Given the description of an element on the screen output the (x, y) to click on. 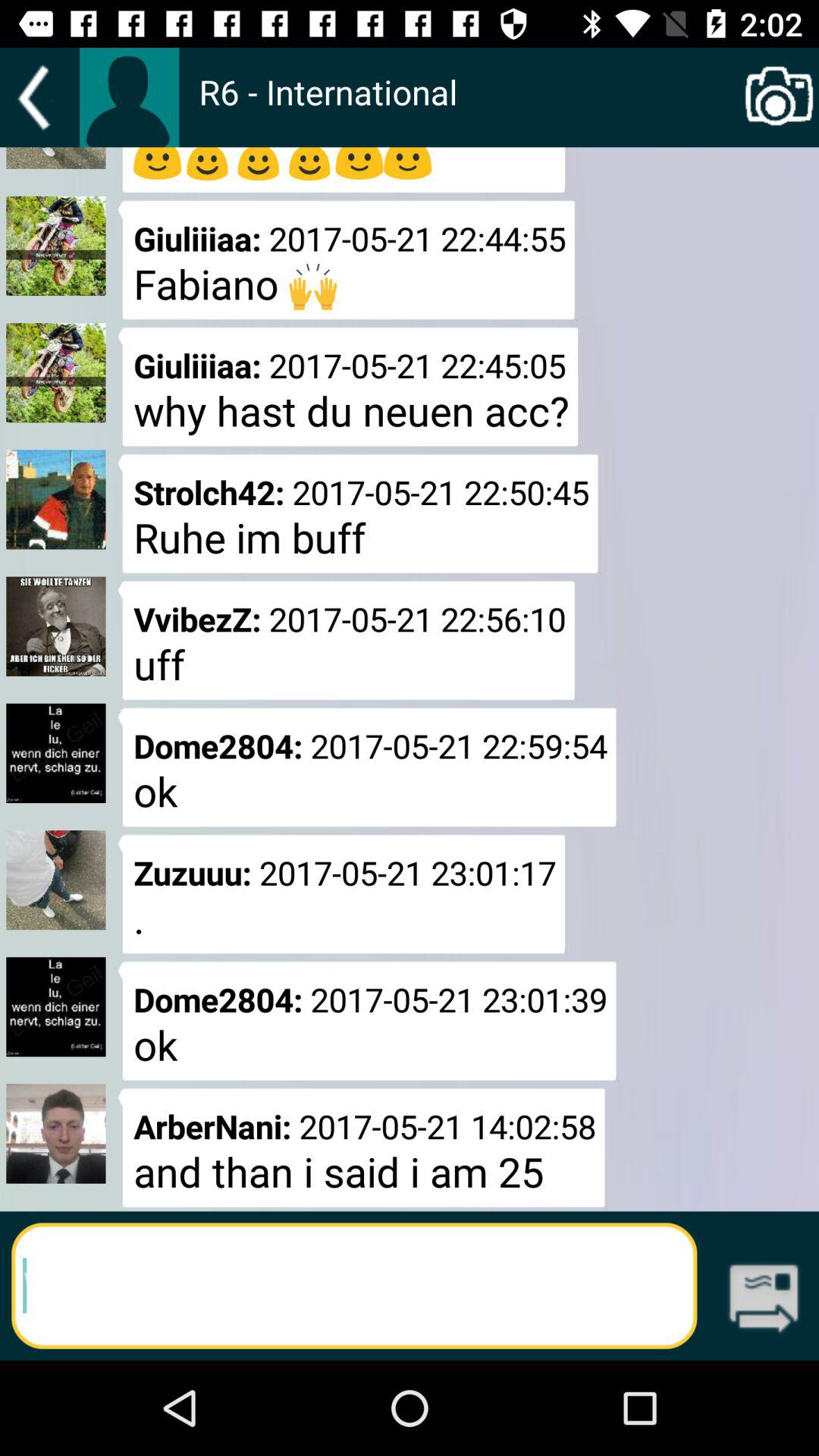
send message (763, 1300)
